Given the description of an element on the screen output the (x, y) to click on. 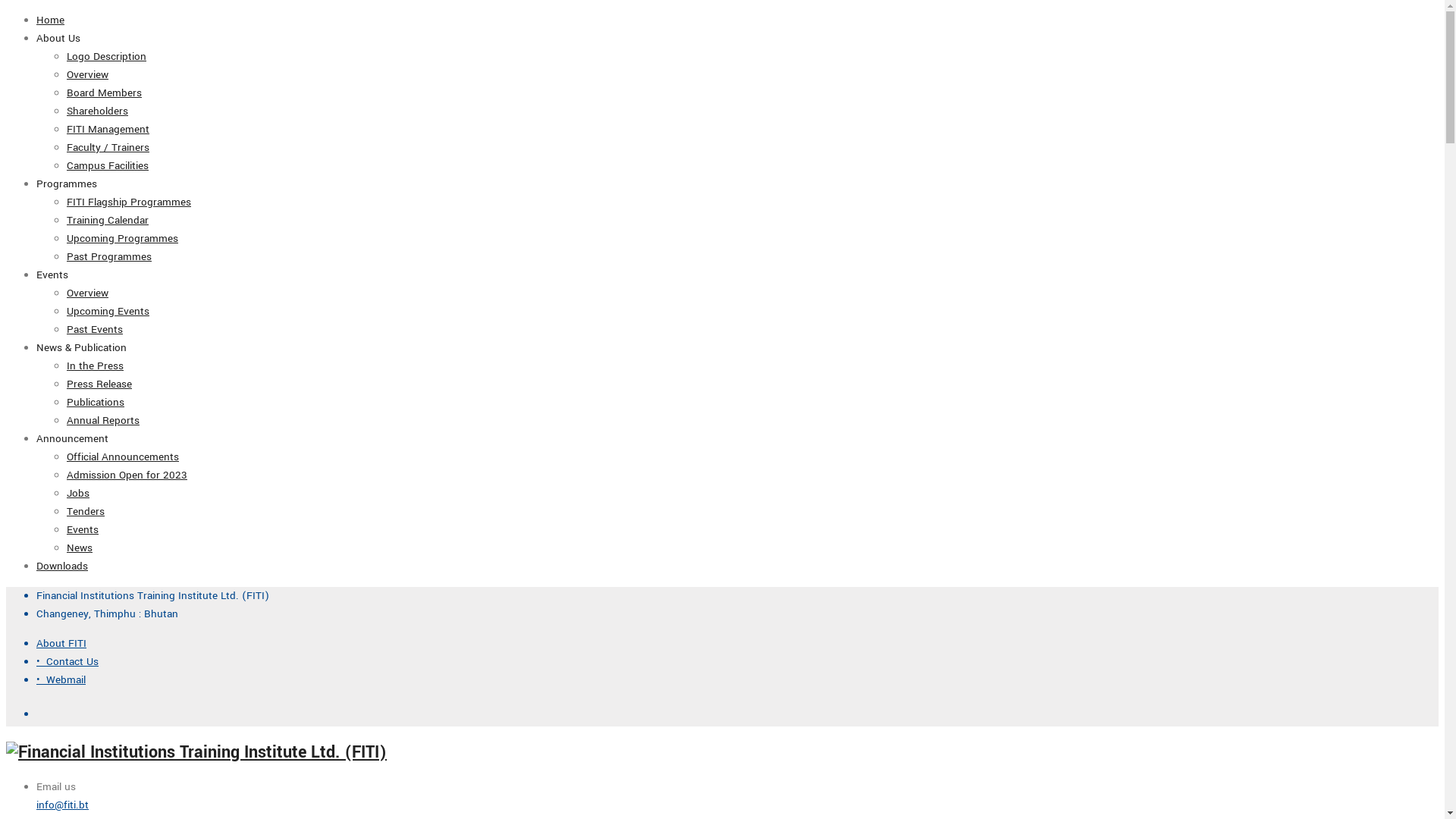
Events Element type: text (82, 529)
Past Programmes Element type: text (108, 256)
Events Element type: text (52, 274)
Campus Facilities Element type: text (107, 165)
Official Announcements Element type: text (122, 456)
News Element type: text (79, 547)
Changeney, Thimphu : Bhutan Element type: text (107, 613)
Faculty / Trainers Element type: text (107, 147)
info@fiti.bt Element type: text (62, 804)
Admission Open for 2023 Element type: text (126, 474)
In the Press Element type: text (94, 365)
Programmes Element type: text (66, 183)
Press Release Element type: text (98, 383)
News & Publication Element type: text (81, 347)
Past Events Element type: text (94, 329)
FITI Management Element type: text (107, 129)
Jobs Element type: text (77, 493)
FITI Flagship Programmes Element type: text (128, 201)
Tenders Element type: text (85, 511)
Publications Element type: text (95, 402)
Training Calendar Element type: text (107, 220)
About Us Element type: text (58, 38)
Home Element type: text (50, 19)
About FITI Element type: text (61, 643)
Announcement Element type: text (72, 438)
Shareholders Element type: text (97, 110)
Upcoming Programmes Element type: text (122, 238)
Upcoming Events Element type: text (107, 311)
Financial Institutions Training Institute Ltd. (FITI) Element type: text (152, 595)
Annual Reports Element type: text (102, 420)
Overview Element type: text (87, 74)
Logo Description Element type: text (106, 56)
Board Members Element type: text (103, 92)
Overview Element type: text (87, 292)
Downloads Element type: text (61, 565)
